Given the description of an element on the screen output the (x, y) to click on. 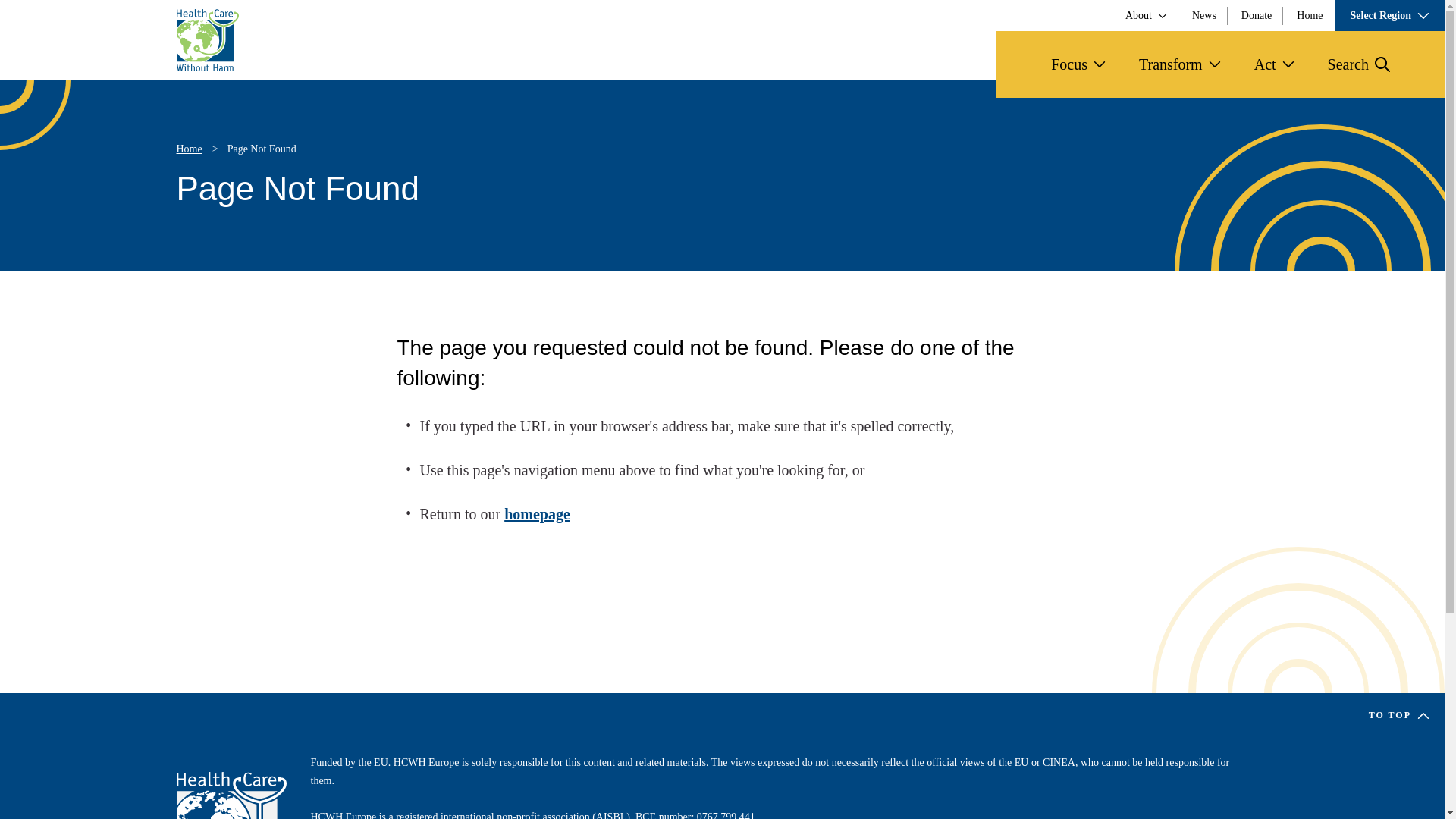
Skip to main content (60, 13)
Home (207, 40)
Home (1309, 15)
News (1203, 15)
Home (230, 795)
About (1146, 15)
Donate (1256, 15)
Transform (1179, 64)
